Given the description of an element on the screen output the (x, y) to click on. 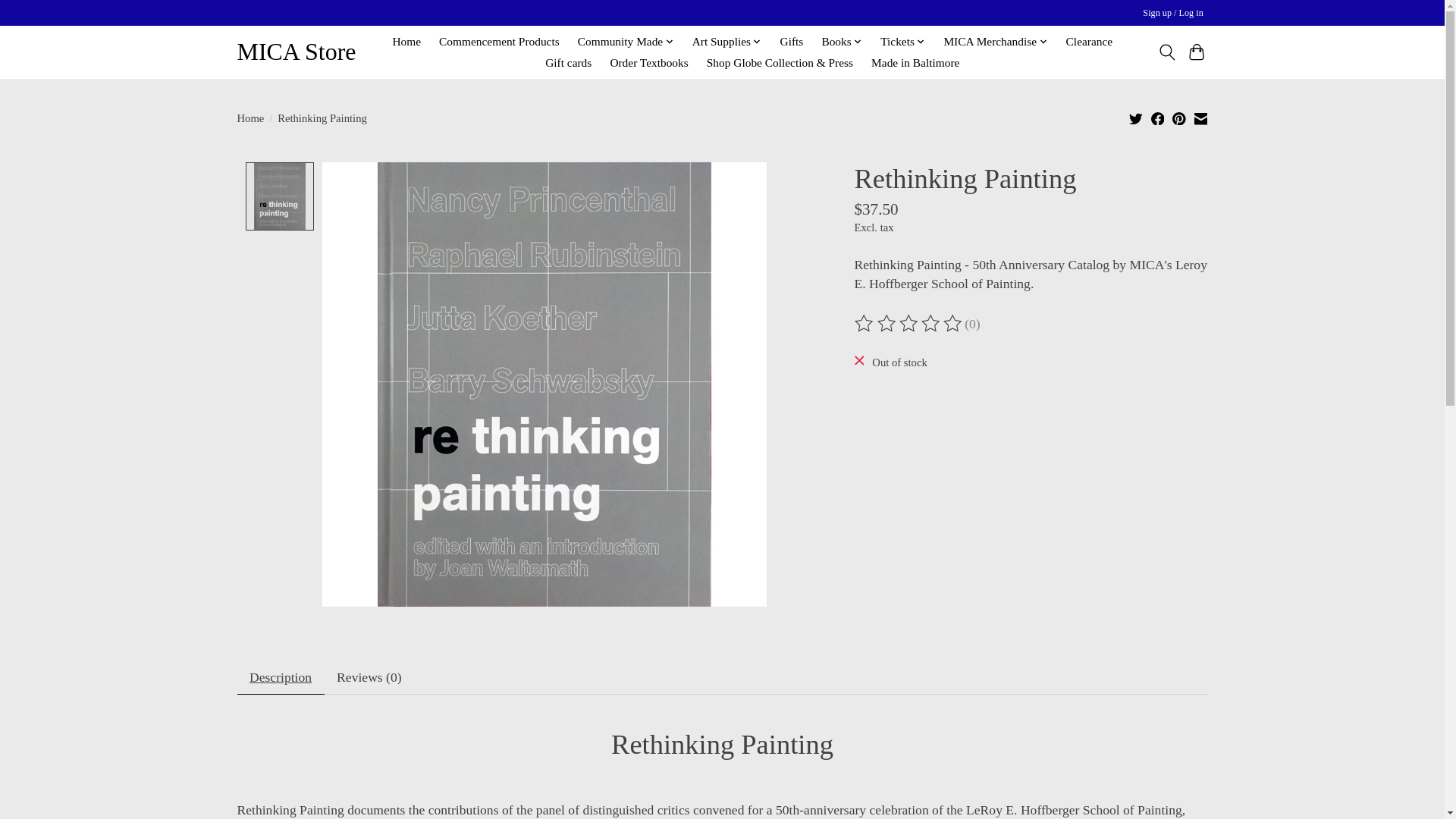
Share on Pinterest (1178, 118)
MICA Store (295, 51)
My account (1173, 13)
Share on Facebook (1157, 118)
MICA Store (295, 51)
Share by Email (1200, 118)
Home (406, 41)
Share on Twitter (1135, 118)
Commencement Products (498, 41)
Community Made (625, 41)
Art Supplies (726, 41)
